Given the description of an element on the screen output the (x, y) to click on. 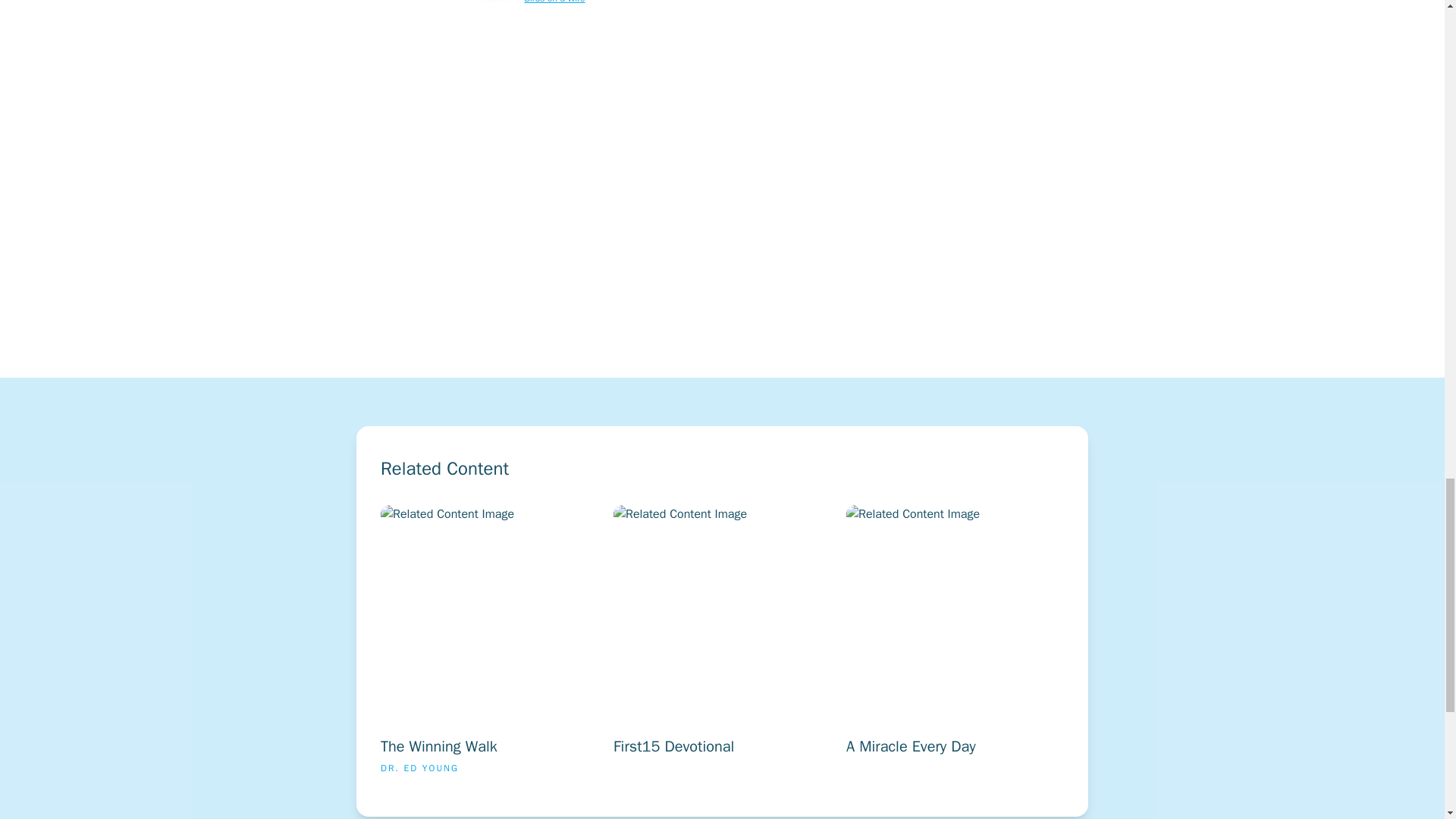
First15 Devotional (802, 645)
A Miracle Every Day (1035, 645)
Birds on a Wire (554, 2)
